Given the description of an element on the screen output the (x, y) to click on. 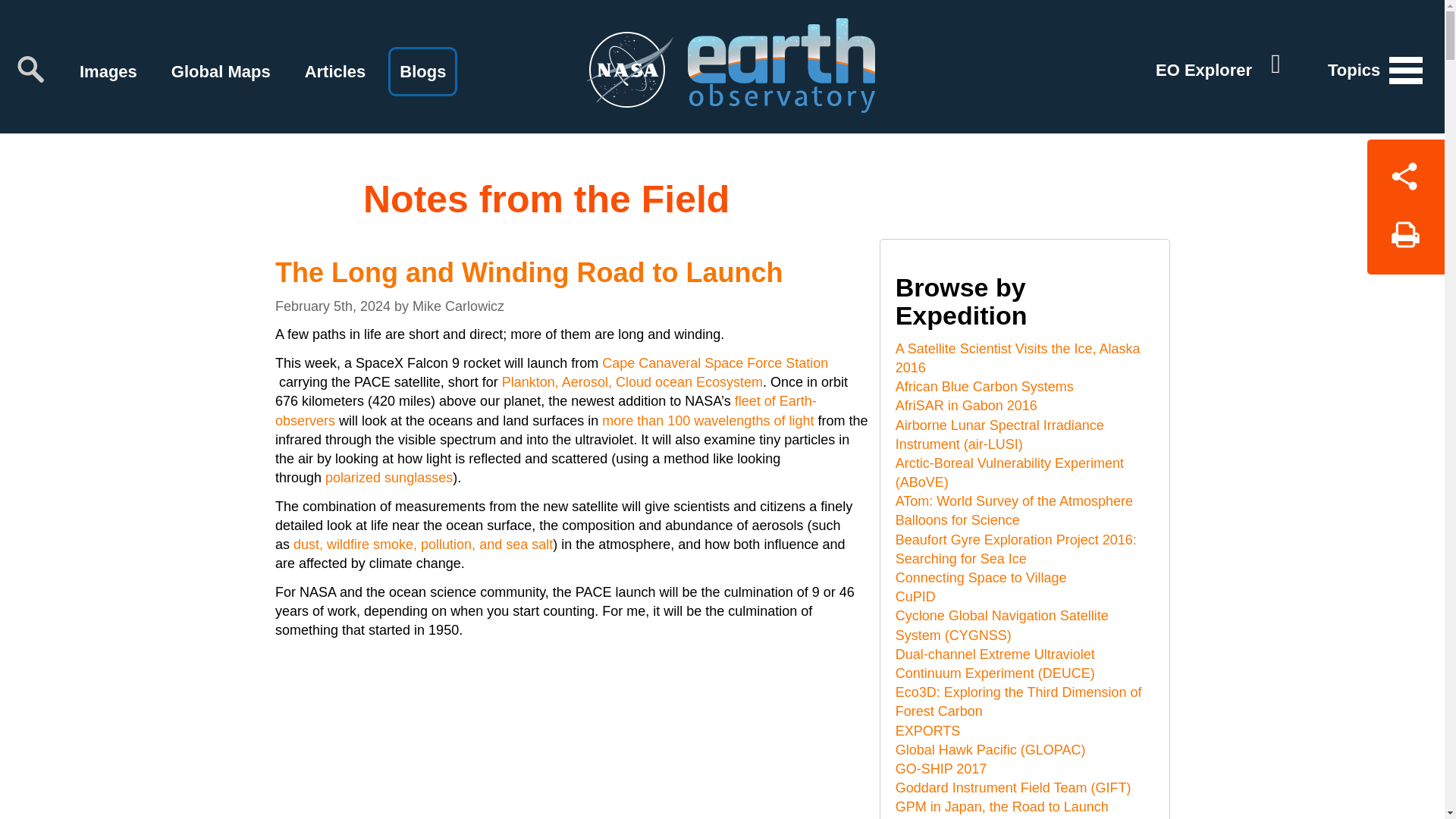
Permanent Link to The Long and Winding Road to Launch (529, 271)
Share (1405, 173)
Print (1405, 240)
Ocean Color Countdown with PACE (571, 734)
